Given the description of an element on the screen output the (x, y) to click on. 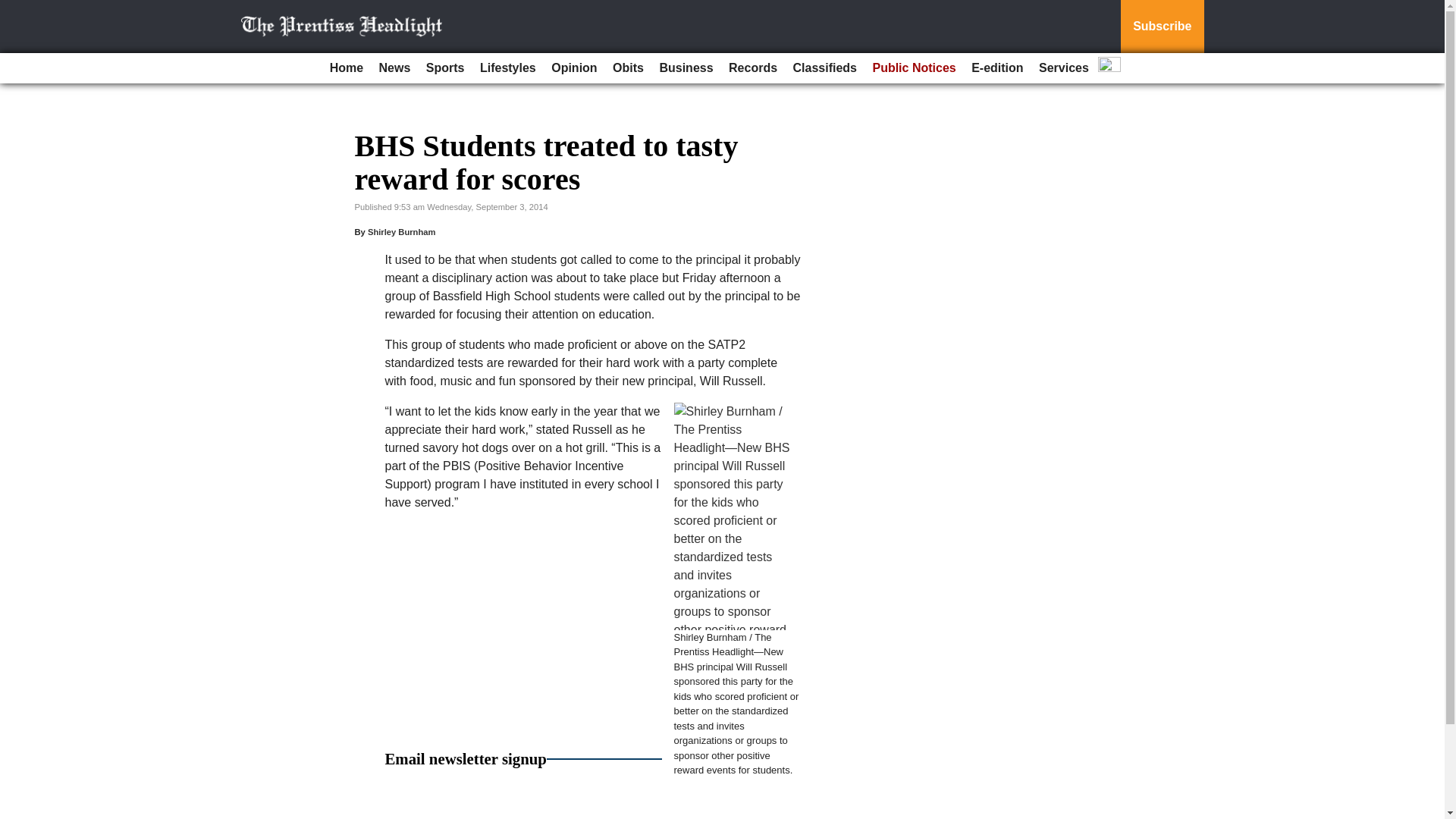
Public Notices (913, 68)
Subscribe (1162, 26)
Services (1063, 68)
Shirley Burnham (401, 231)
E-edition (997, 68)
Business (685, 68)
Go (13, 9)
Lifestyles (507, 68)
Records (752, 68)
Opinion (573, 68)
